Given the description of an element on the screen output the (x, y) to click on. 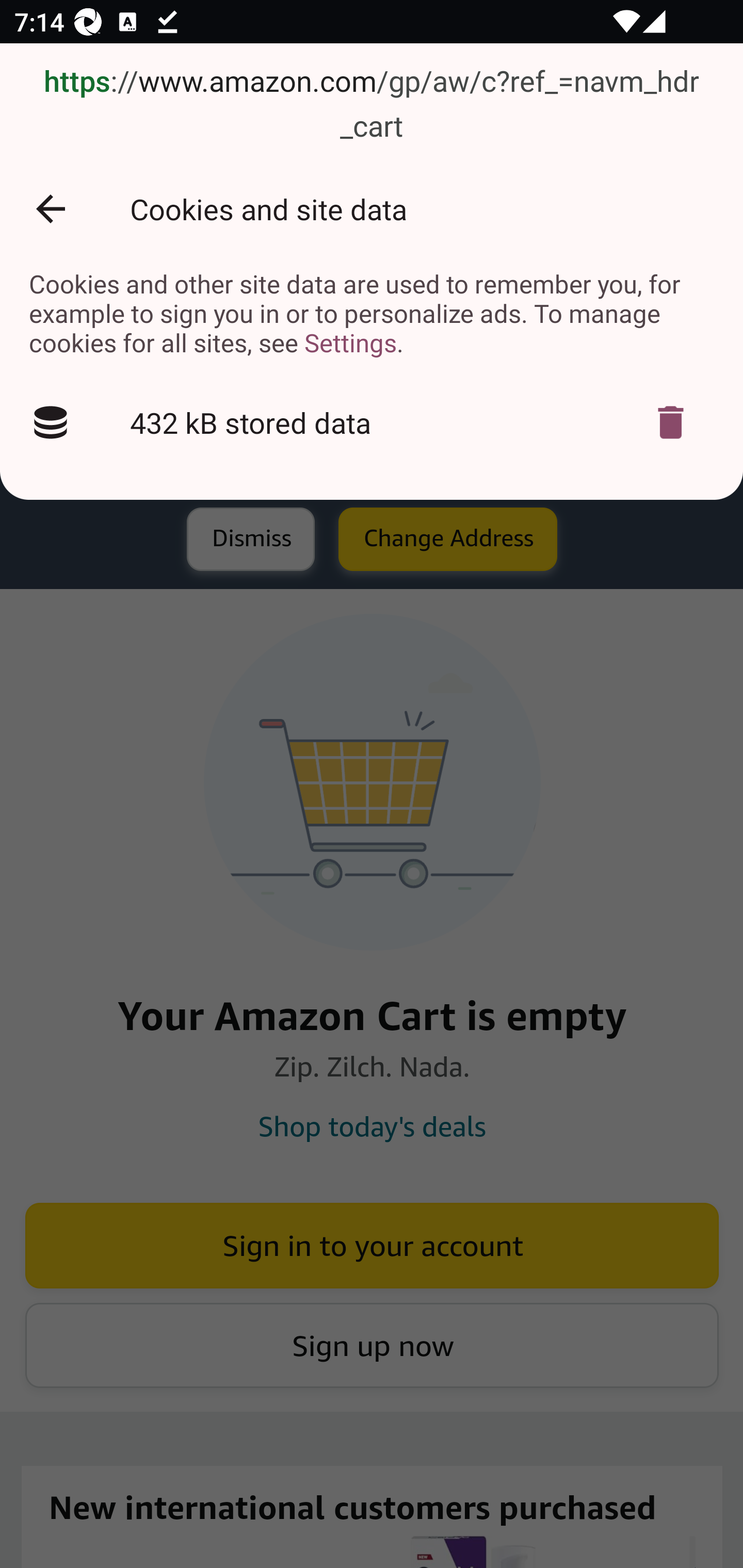
https://www.amazon.com/gp/aw/c?ref_=navm_hdr_cart (371, 104)
Back (50, 209)
432 kB stored data Delete cookies? (371, 421)
